Given the description of an element on the screen output the (x, y) to click on. 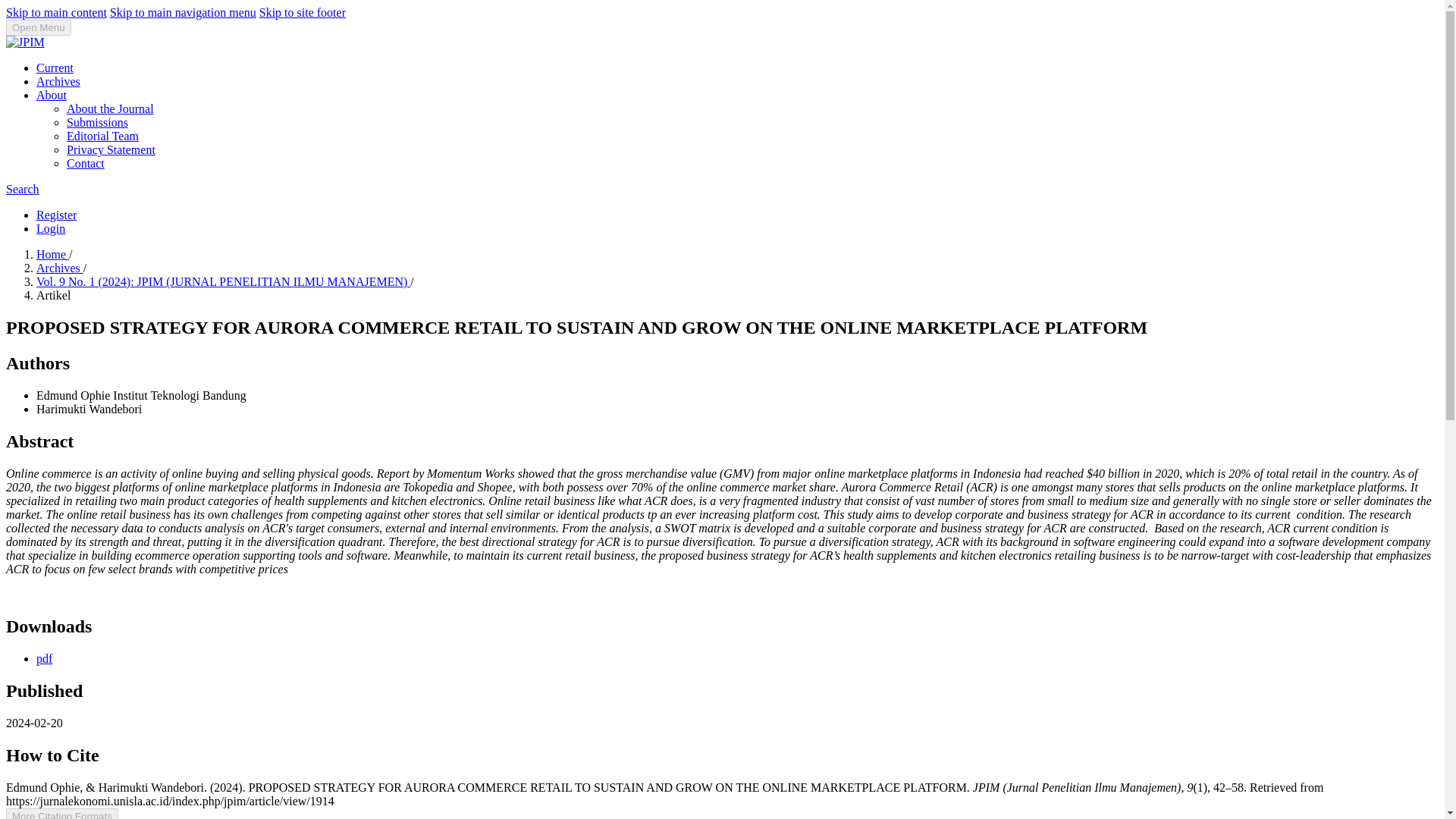
Editorial Team (102, 135)
Register (56, 214)
Privacy Statement (110, 149)
Login (50, 228)
Archives (59, 267)
Home (52, 254)
Contact (85, 163)
Skip to main content (55, 11)
Submissions (97, 122)
More Citation Formats (61, 813)
